Given the description of an element on the screen output the (x, y) to click on. 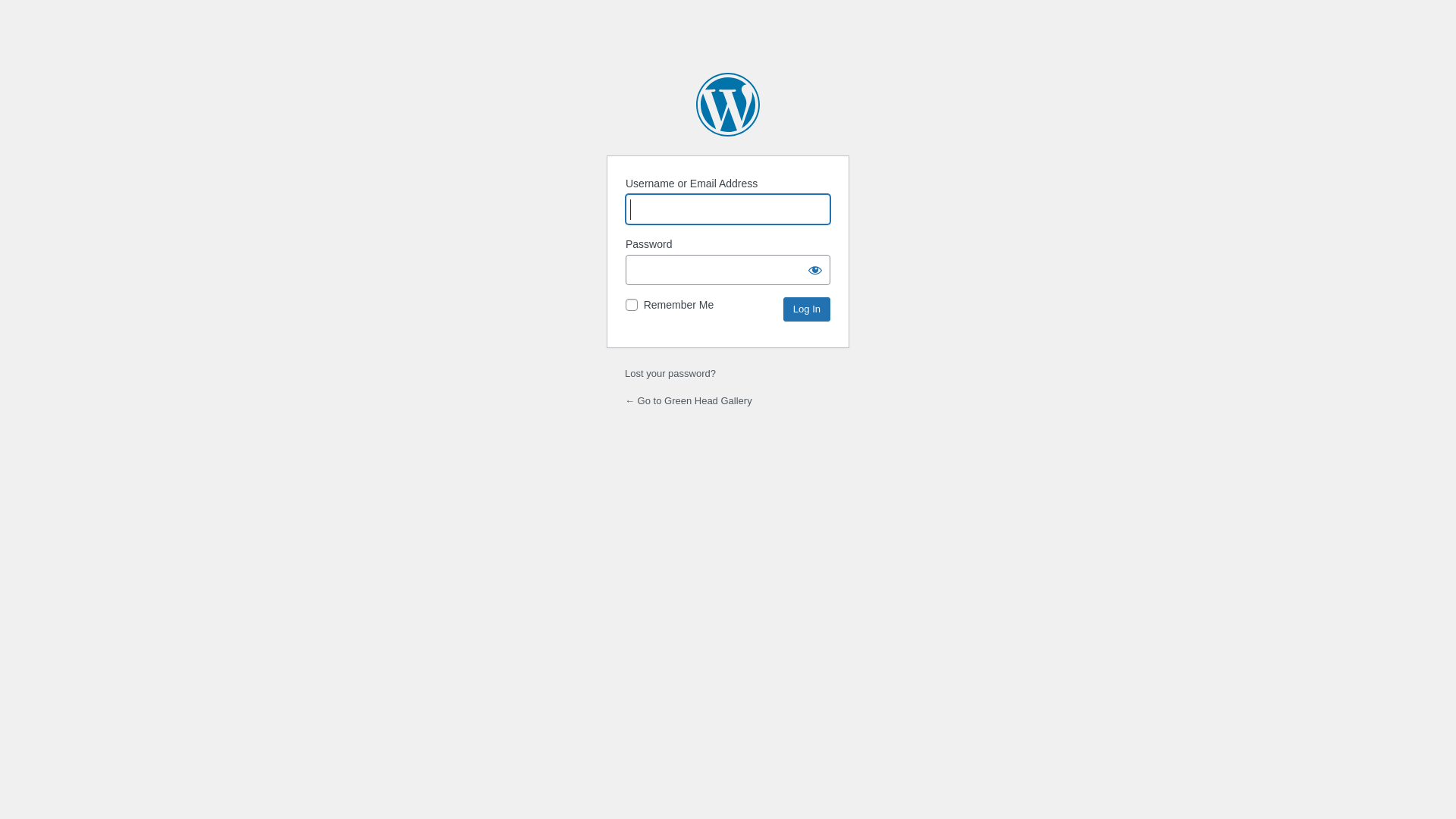
Lost your password? Element type: text (669, 373)
Powered by WordPress Element type: text (727, 104)
Log In Element type: text (806, 309)
